Given the description of an element on the screen output the (x, y) to click on. 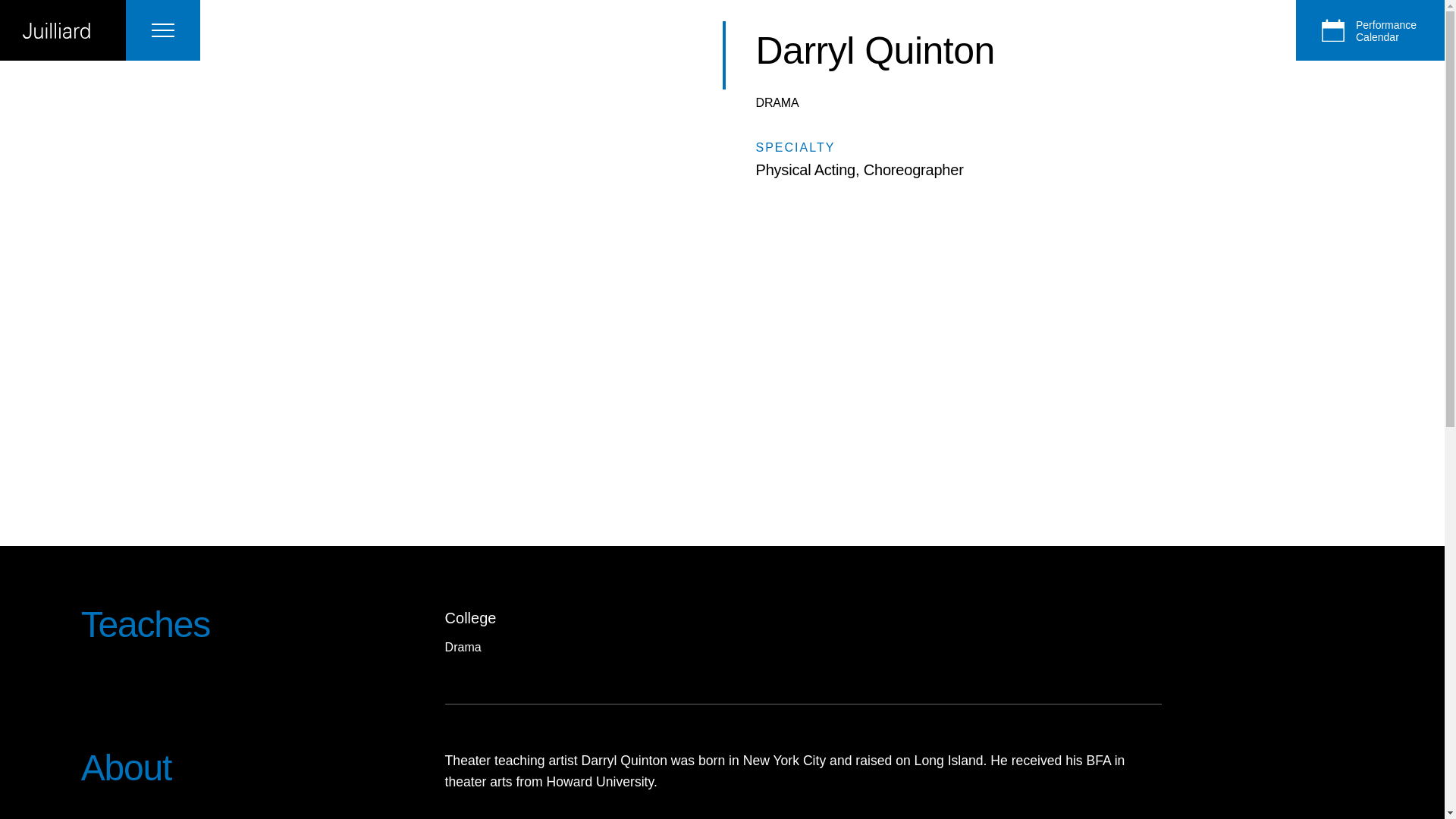
Display Main Site Navigation (162, 30)
Home (62, 30)
The Juilliard School (62, 30)
